Given the description of an element on the screen output the (x, y) to click on. 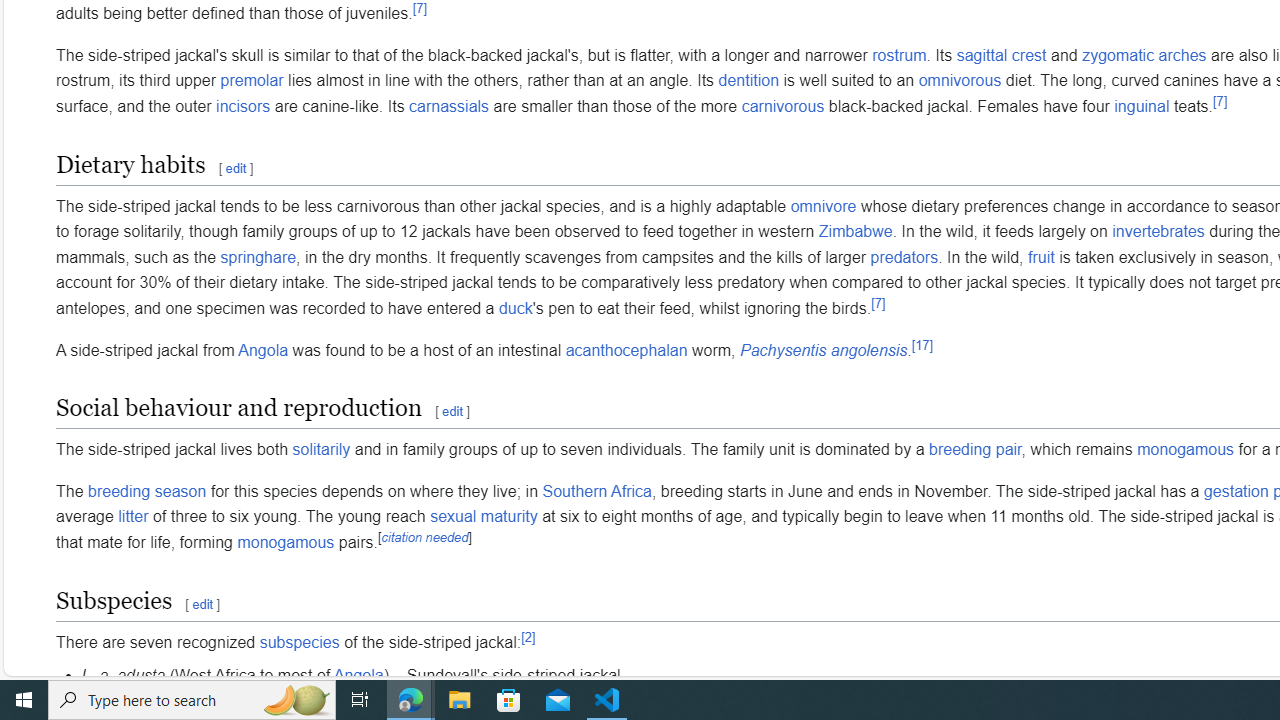
breeding pair (975, 449)
carnivorous (783, 106)
edit (202, 604)
